Given the description of an element on the screen output the (x, y) to click on. 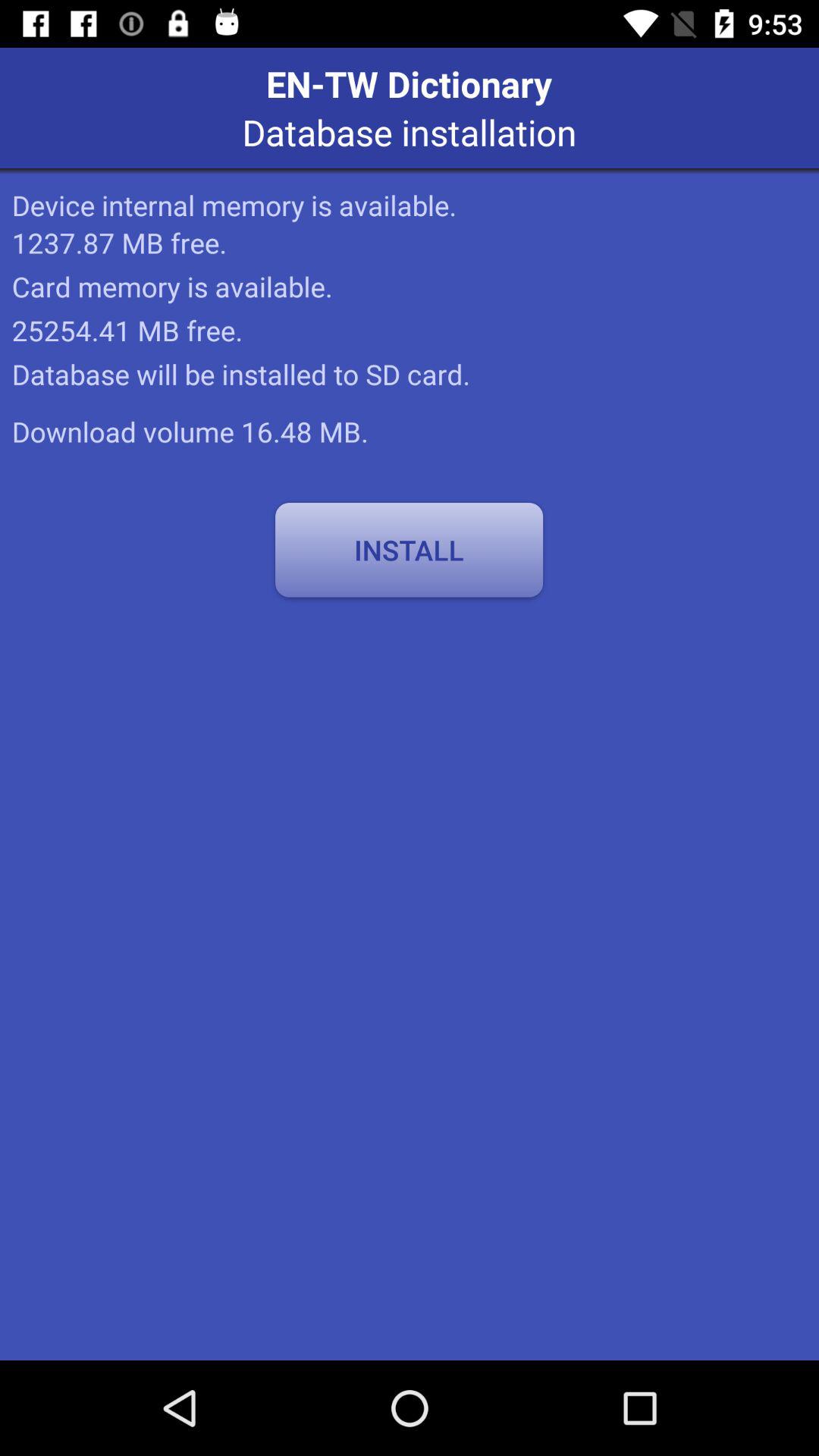
open the install item (408, 549)
